Given the description of an element on the screen output the (x, y) to click on. 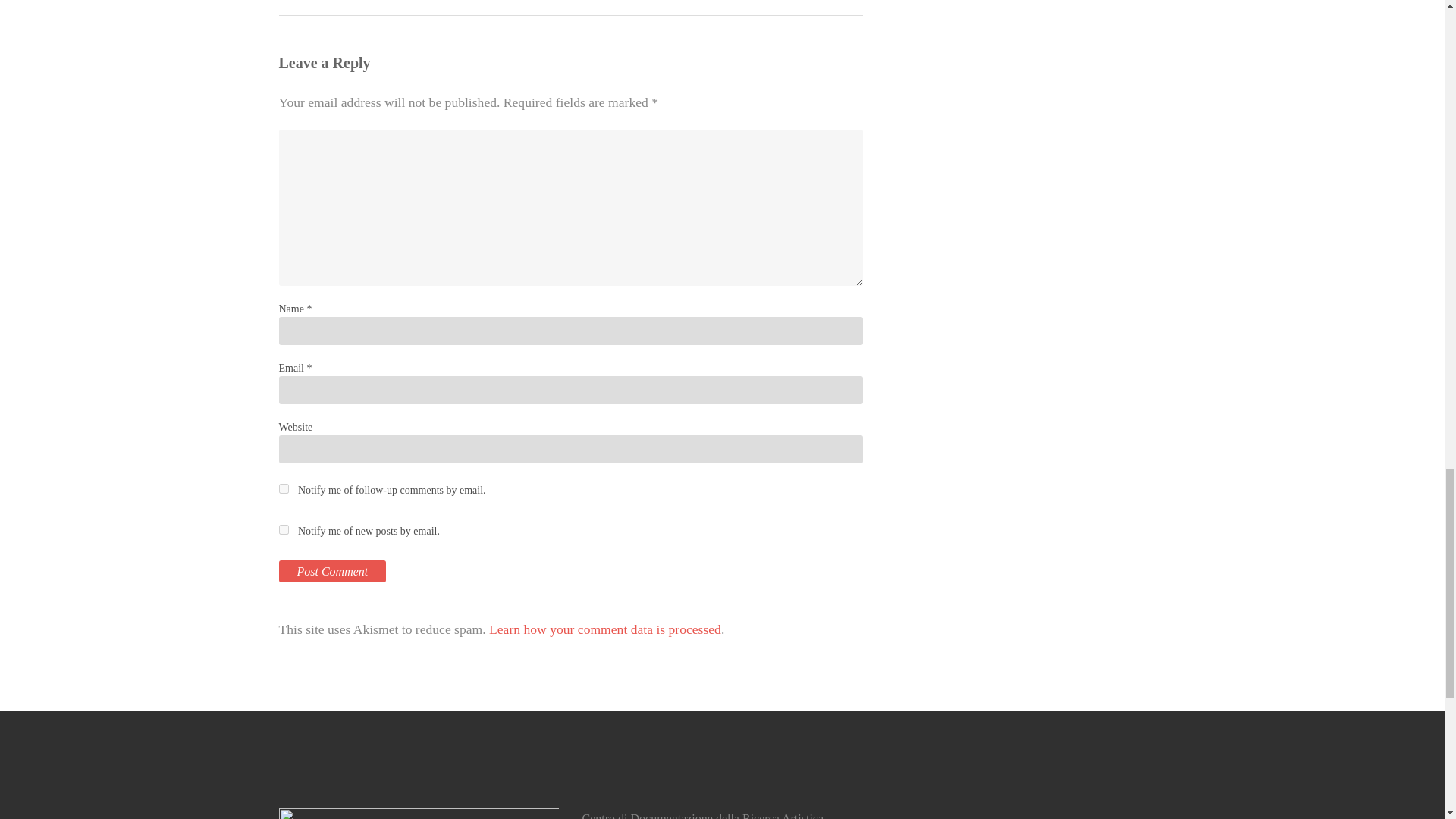
Post Comment (333, 571)
subscribe (283, 529)
subscribe (283, 488)
